Given the description of an element on the screen output the (x, y) to click on. 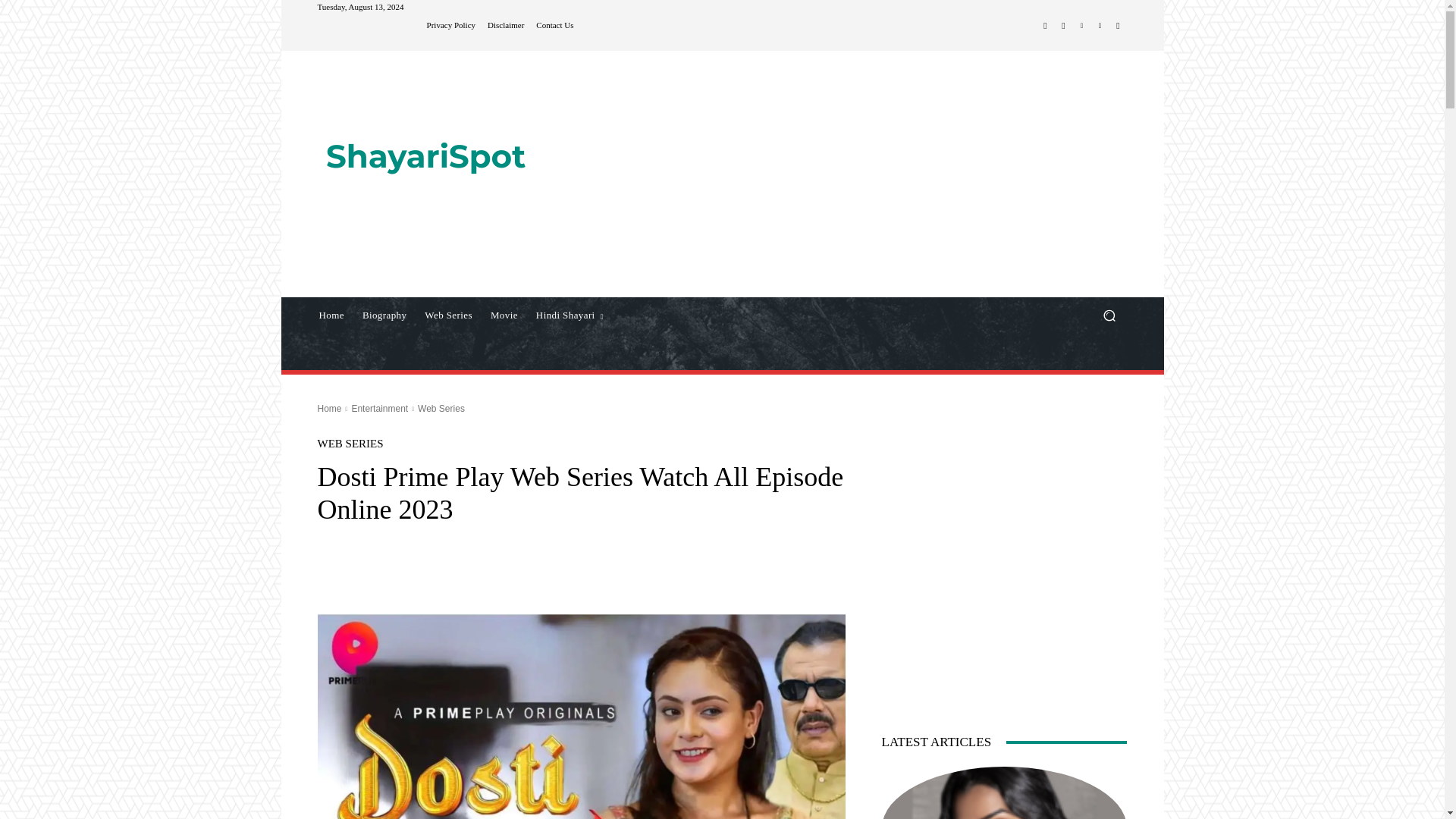
Facebook (1044, 25)
Privacy Policy (451, 25)
Advertisement (848, 175)
Vimeo (1099, 25)
View all posts in Web Series (440, 408)
View all posts in Entertainment (378, 408)
Disclaimer (505, 25)
Instagram (1062, 25)
Youtube (1117, 25)
Twitter (1080, 25)
